Given the description of an element on the screen output the (x, y) to click on. 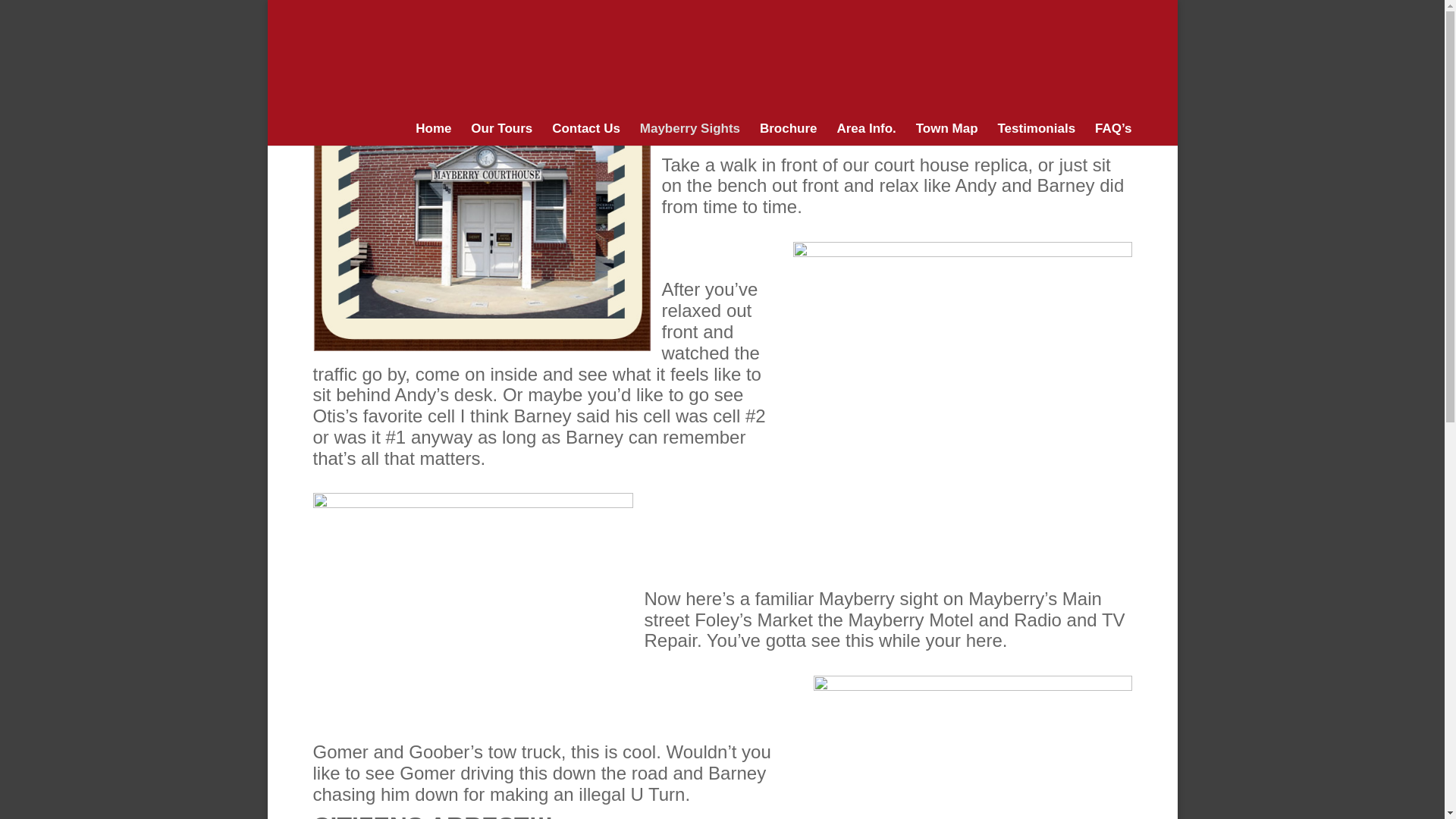
Brochure (788, 134)
Home (432, 134)
Contact Us (585, 134)
Mayberry Sights (689, 134)
Our Tours (501, 134)
Testimonials (1036, 134)
Area Info. (865, 134)
Town Map (946, 134)
